Given the description of an element on the screen output the (x, y) to click on. 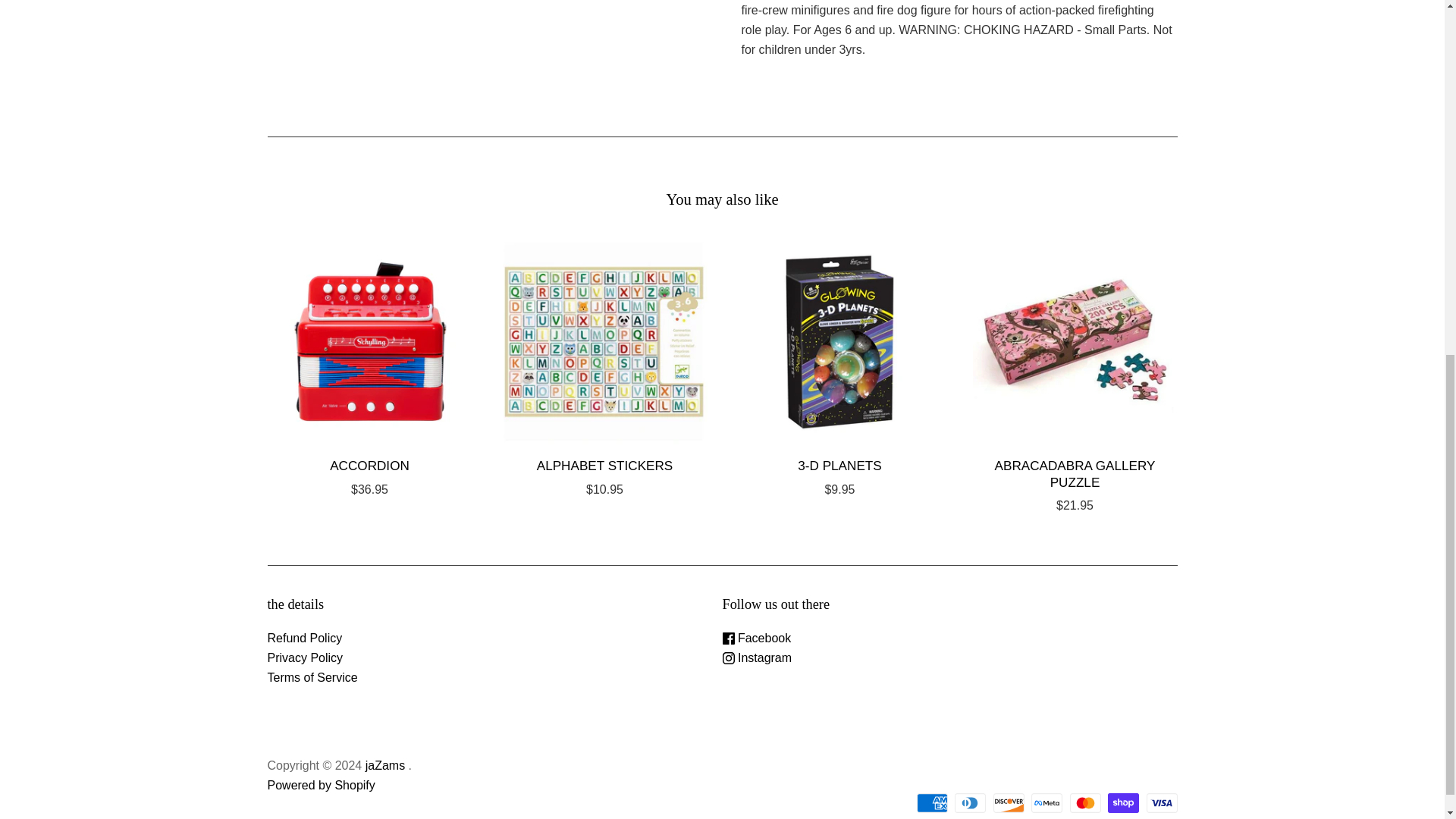
Facebook (756, 637)
Diners Club (970, 803)
Shop Pay (1123, 803)
Visa (1162, 803)
Discover (1008, 803)
Mastercard (1085, 803)
Instagram (757, 657)
Meta Pay (1046, 803)
American Express (932, 803)
